Given the description of an element on the screen output the (x, y) to click on. 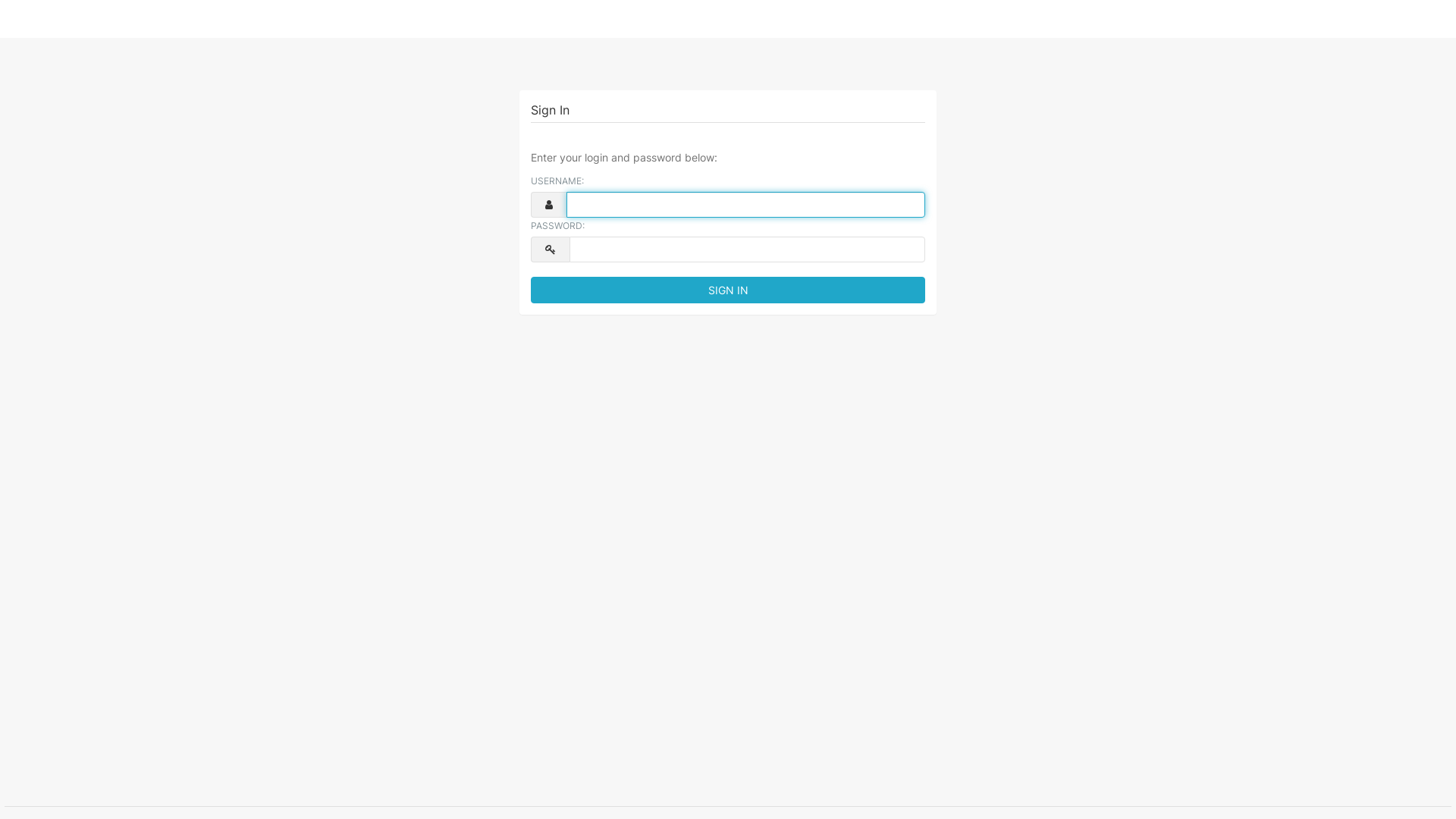
Sign In Element type: text (727, 289)
